Given the description of an element on the screen output the (x, y) to click on. 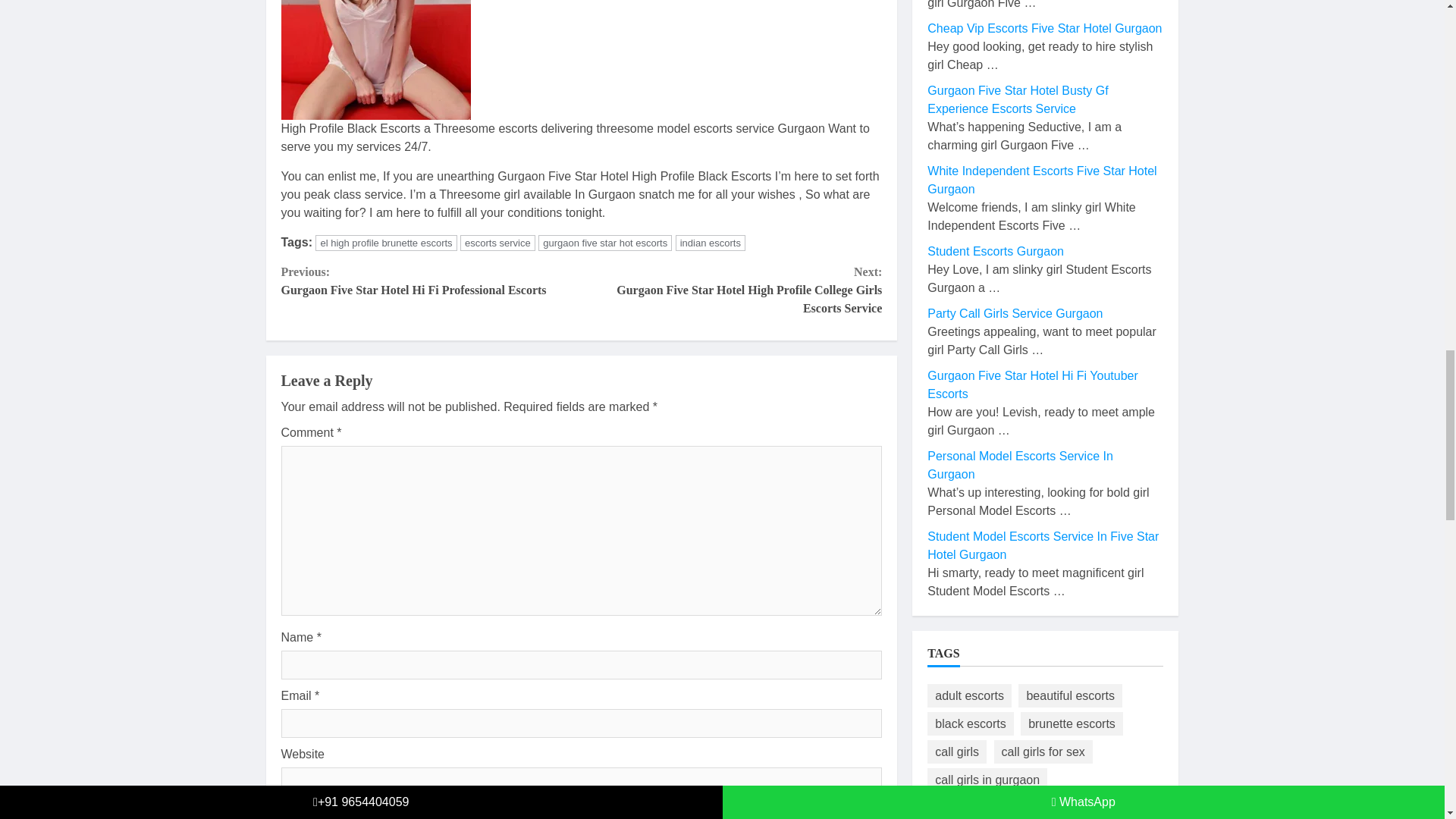
escorts service (497, 242)
indian escorts (710, 242)
yes (285, 812)
gurgaon five star hot escorts (430, 280)
el high profile brunette escorts (604, 242)
